Given the description of an element on the screen output the (x, y) to click on. 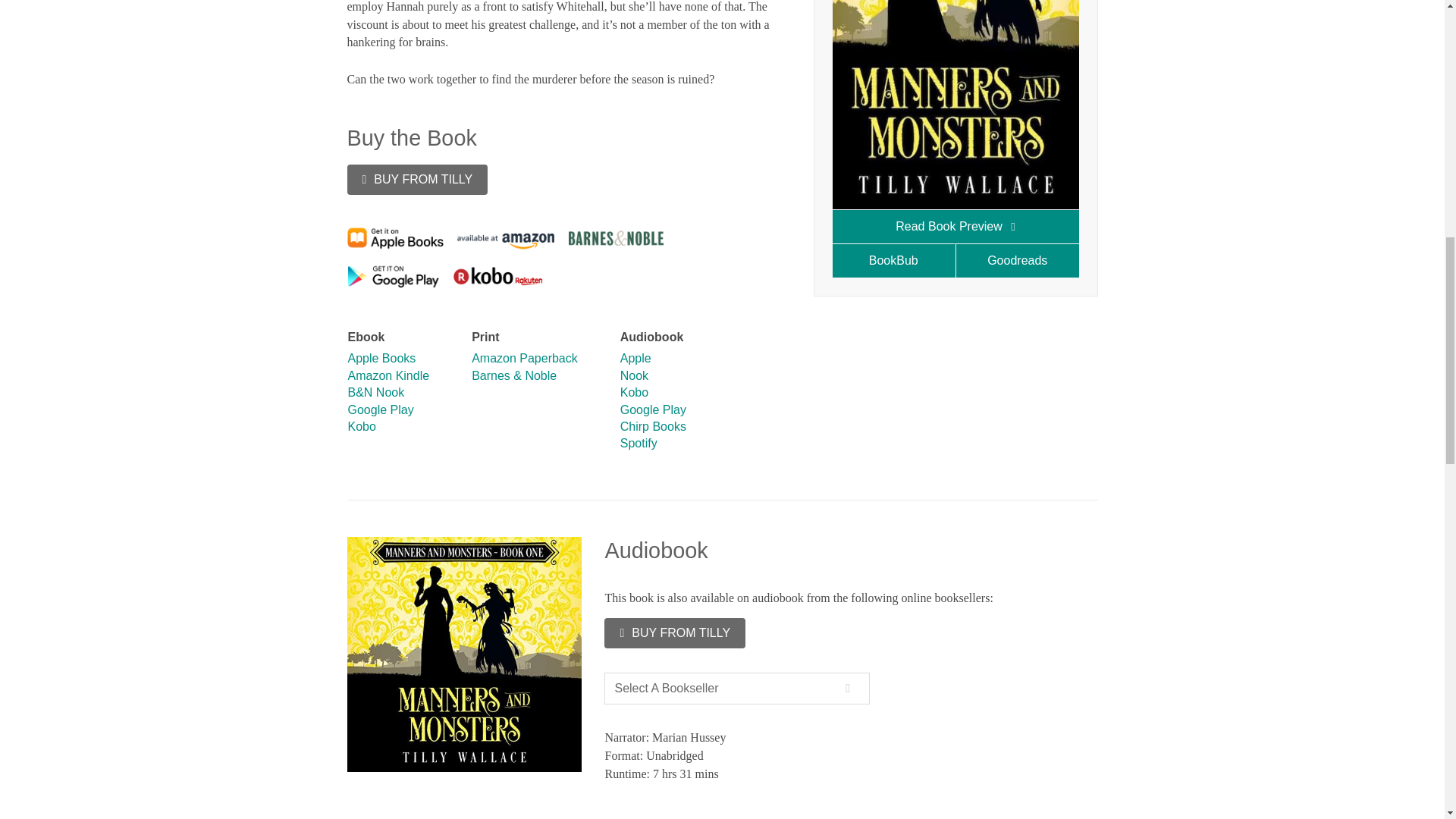
Apple Books (380, 358)
BUY FROM TILLY (417, 179)
Read Book Preview (955, 226)
Goodreads (1016, 260)
BookBub (894, 260)
